Given the description of an element on the screen output the (x, y) to click on. 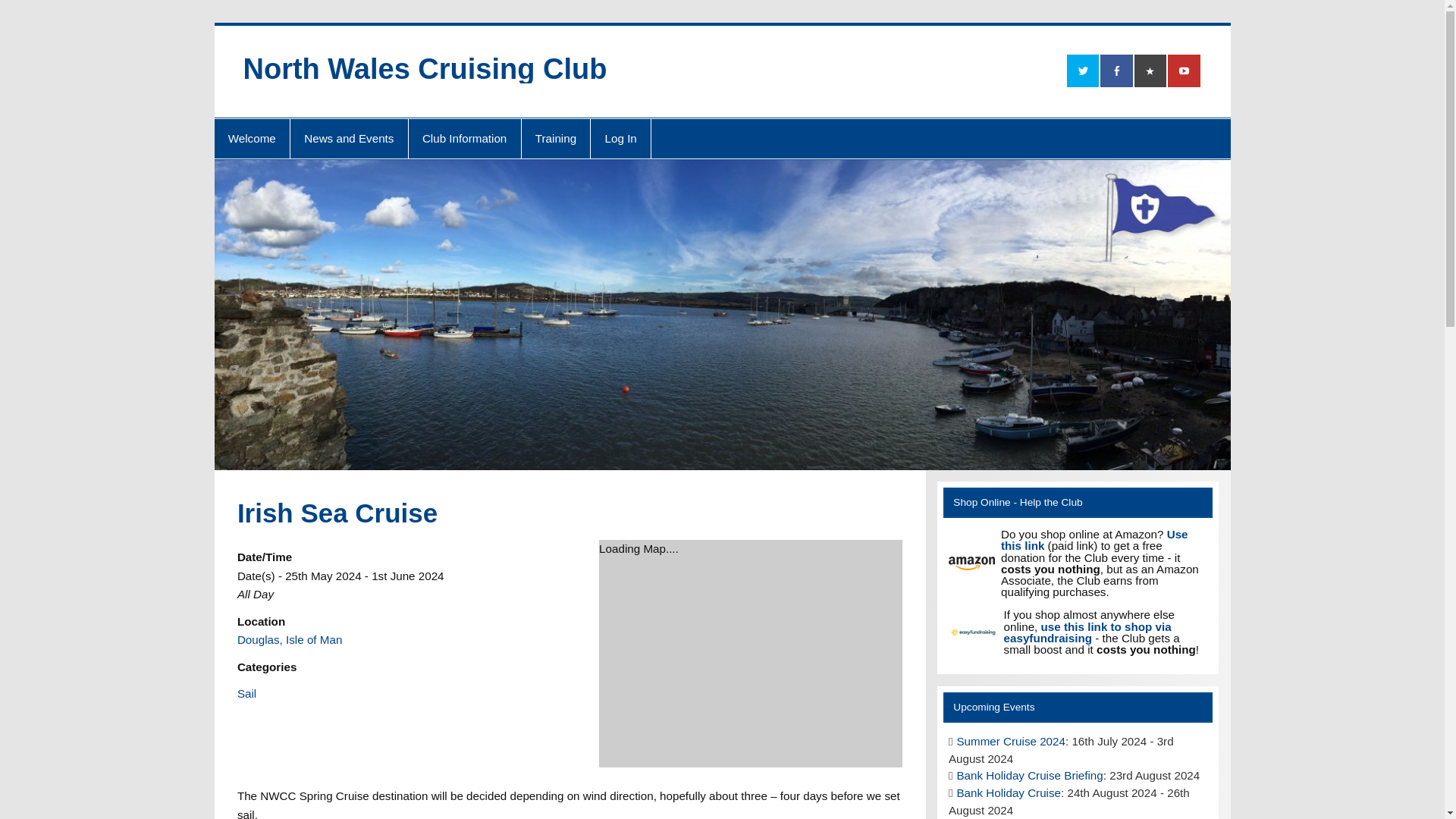
Douglas, Isle of Man (289, 639)
News and Events (348, 138)
Welcome (251, 138)
North Wales Cruising Club (425, 69)
Club Information (465, 138)
Sail (246, 693)
Training (556, 138)
Log In (620, 138)
